Given the description of an element on the screen output the (x, y) to click on. 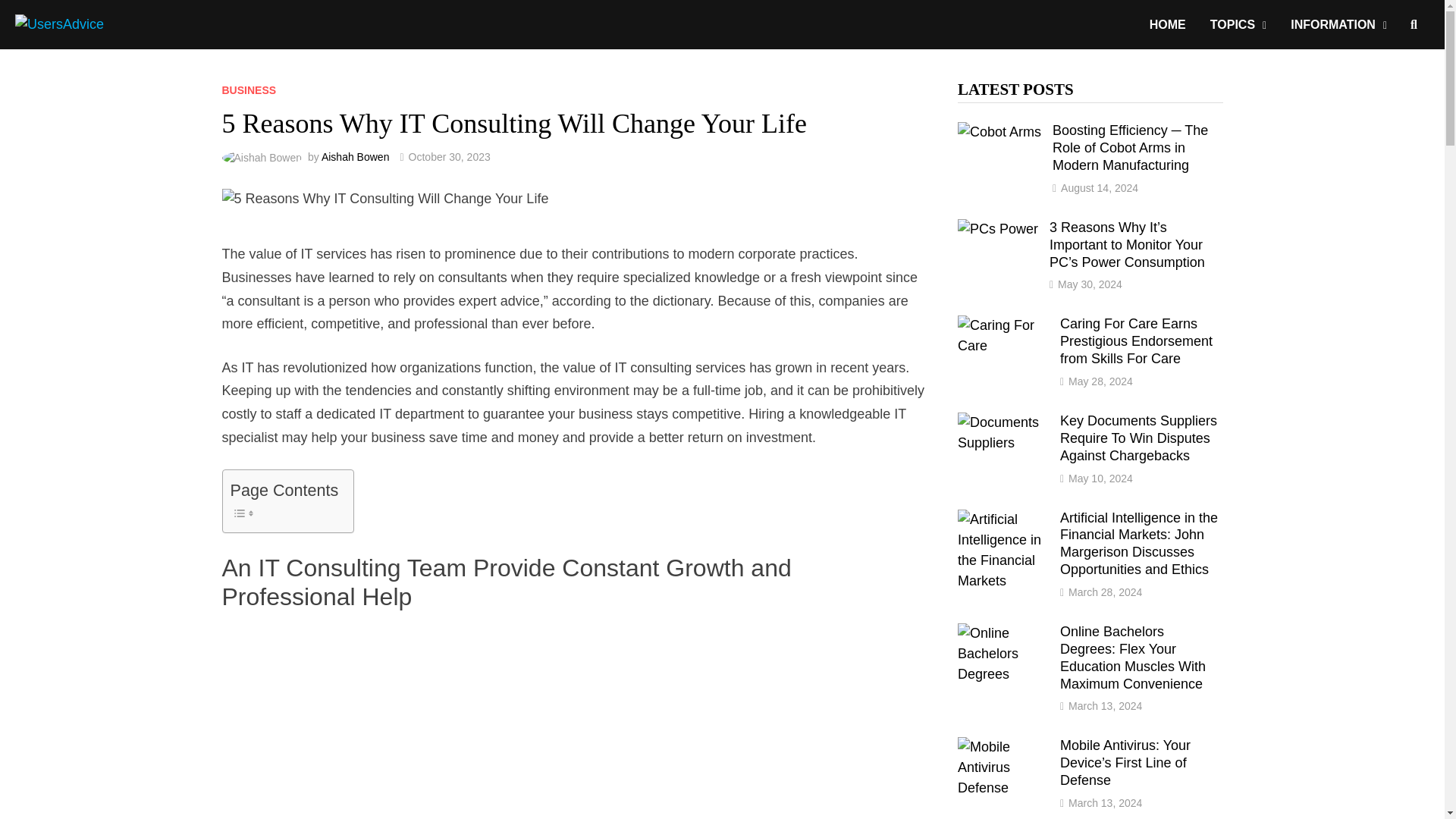
TOPICS (1238, 24)
HOME (1167, 24)
Aishah Bowen (355, 156)
INFORMATION (1338, 24)
October 30, 2023 (449, 156)
BUSINESS (248, 90)
